Given the description of an element on the screen output the (x, y) to click on. 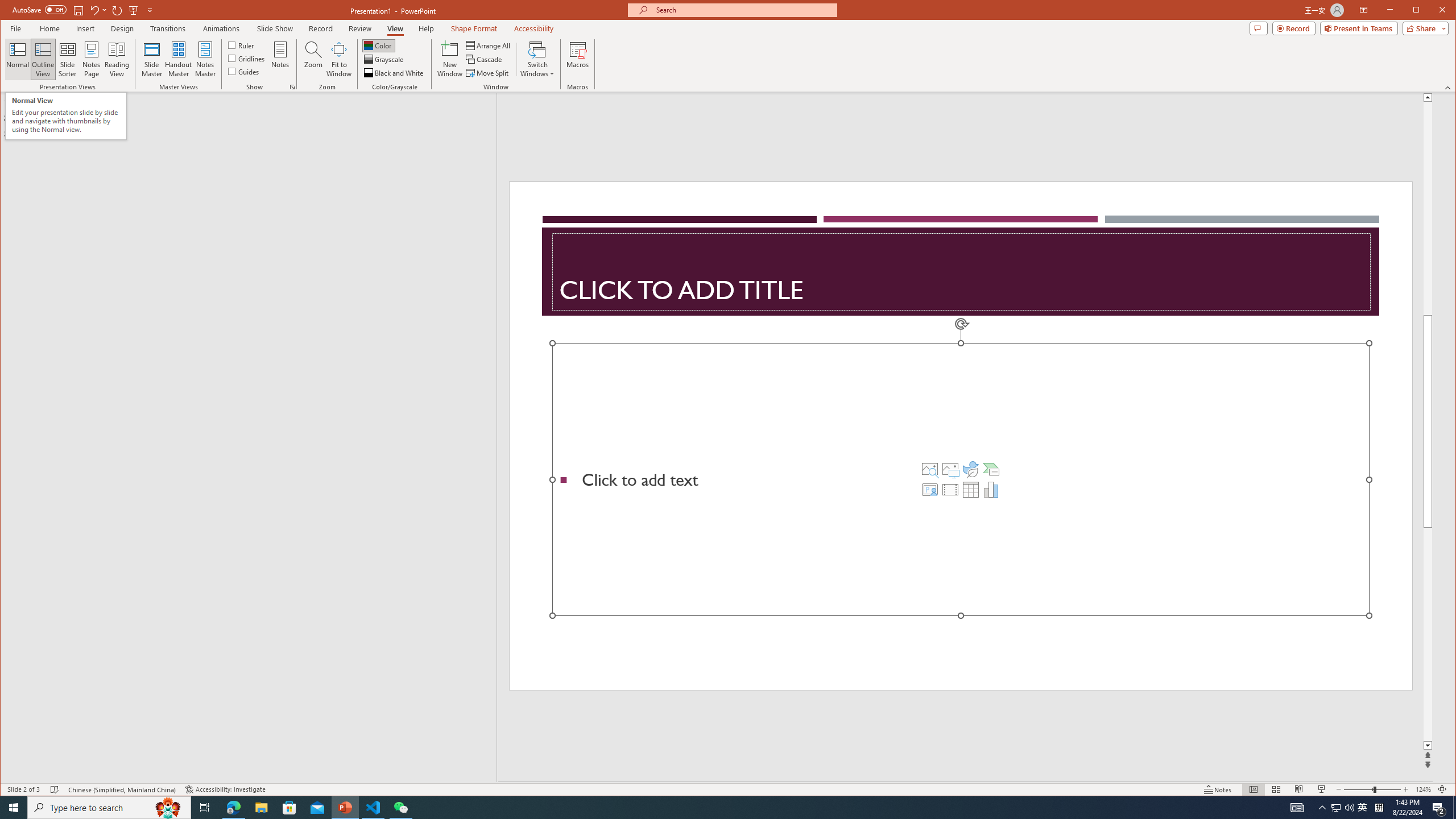
Arrange All (488, 45)
Move Split (488, 72)
Notes Master (204, 59)
Guides (243, 70)
Content Placeholder (960, 479)
Notes Page (91, 59)
New Window (450, 59)
Cascade (484, 59)
